Given the description of an element on the screen output the (x, y) to click on. 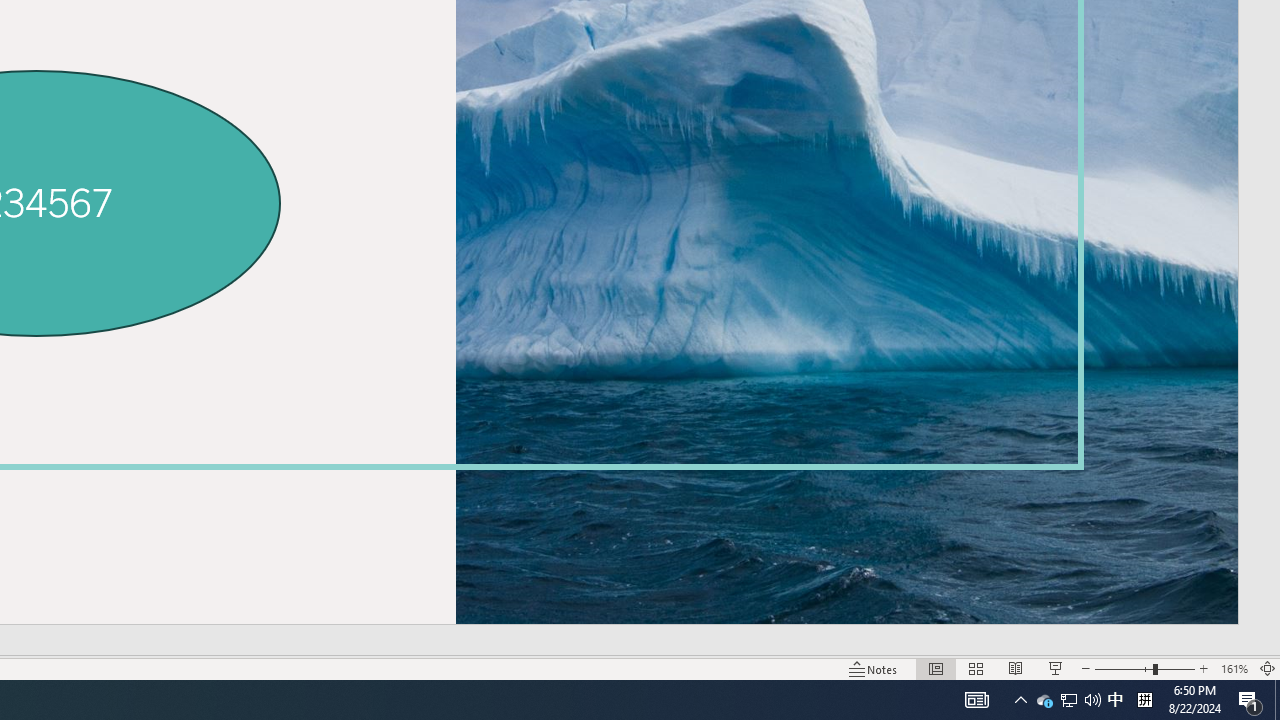
Zoom 161% (1234, 668)
